Given the description of an element on the screen output the (x, y) to click on. 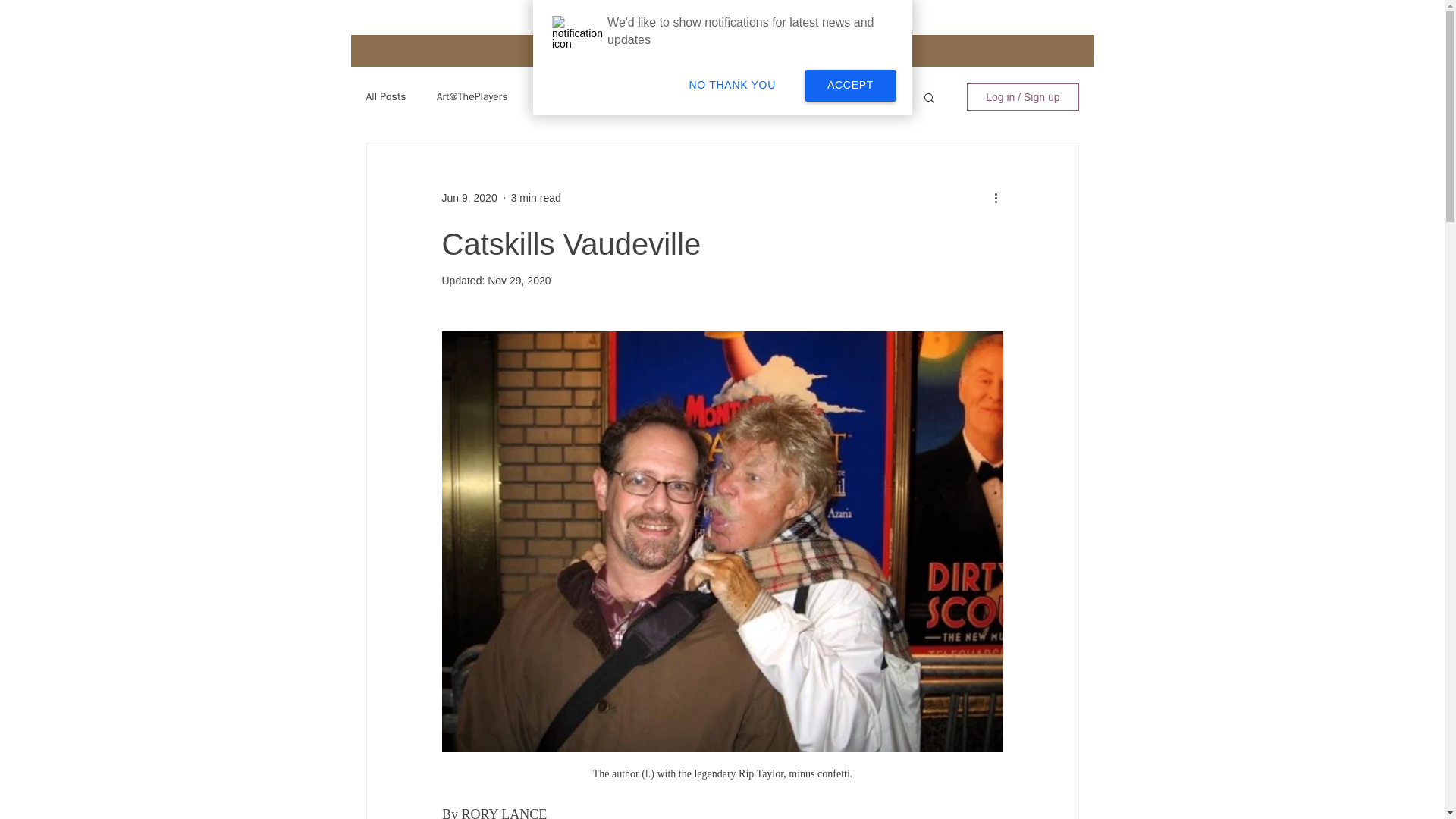
Classic Players (765, 97)
Personal Essays (662, 97)
Nov 29, 2020 (518, 280)
Club History (566, 97)
3 min read (535, 196)
Jun 9, 2020 (468, 196)
SUBSCRIBE (852, 52)
Club Stories (859, 97)
ALL POSTS (667, 52)
HOME (575, 52)
All Posts (385, 97)
